Given the description of an element on the screen output the (x, y) to click on. 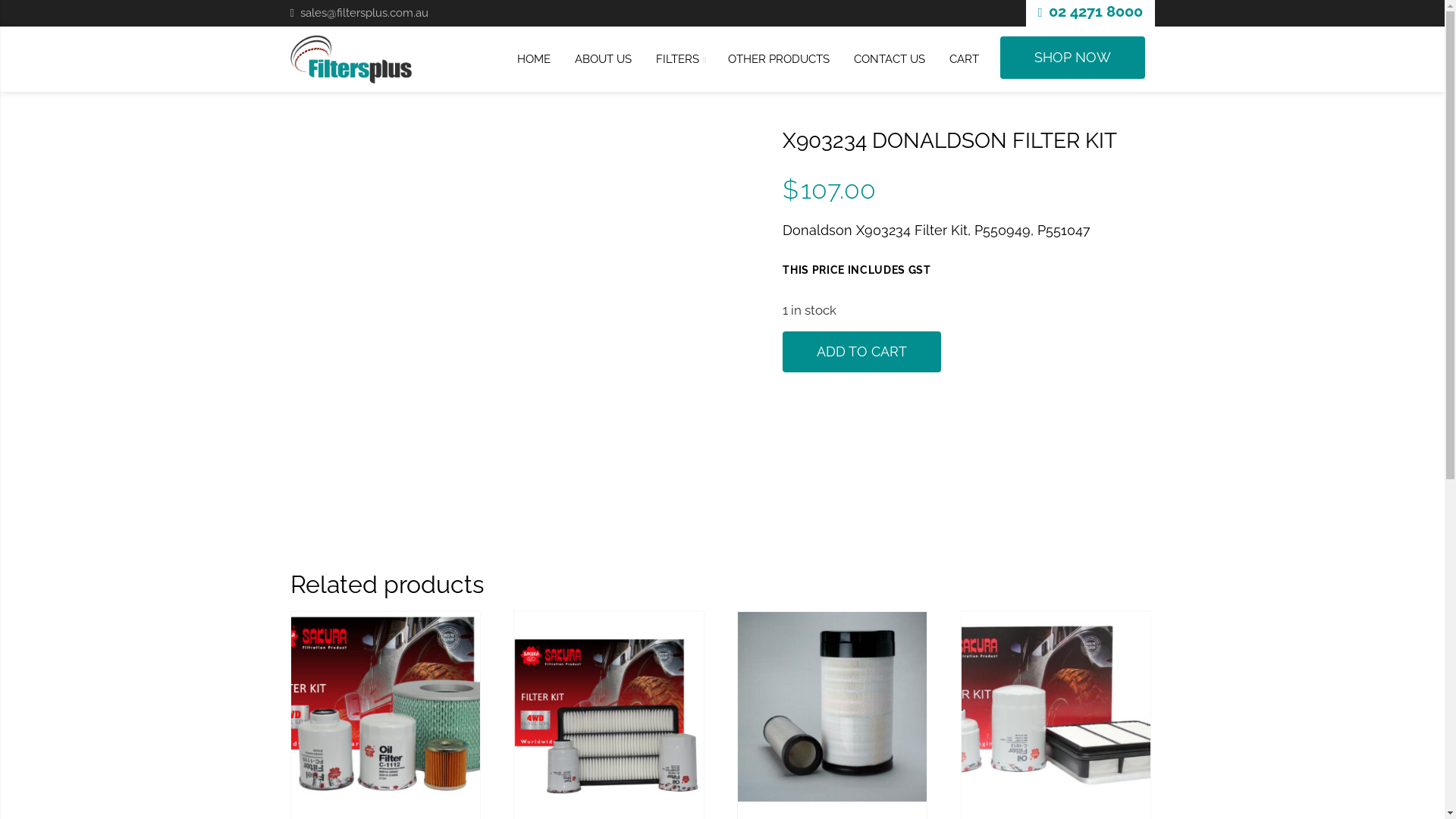
HOME Element type: text (533, 59)
SHOP NOW Element type: text (1071, 57)
sales@filtersplus.com.au Element type: text (364, 12)
ABOUT US Element type: text (602, 59)
02 4271 8000 Element type: text (1095, 11)
CART Element type: text (964, 59)
CONTACT US Element type: text (889, 59)
FILTERS Element type: text (679, 59)
ADD TO CART Element type: text (861, 351)
OTHER PRODUCTS Element type: text (778, 59)
